Given the description of an element on the screen output the (x, y) to click on. 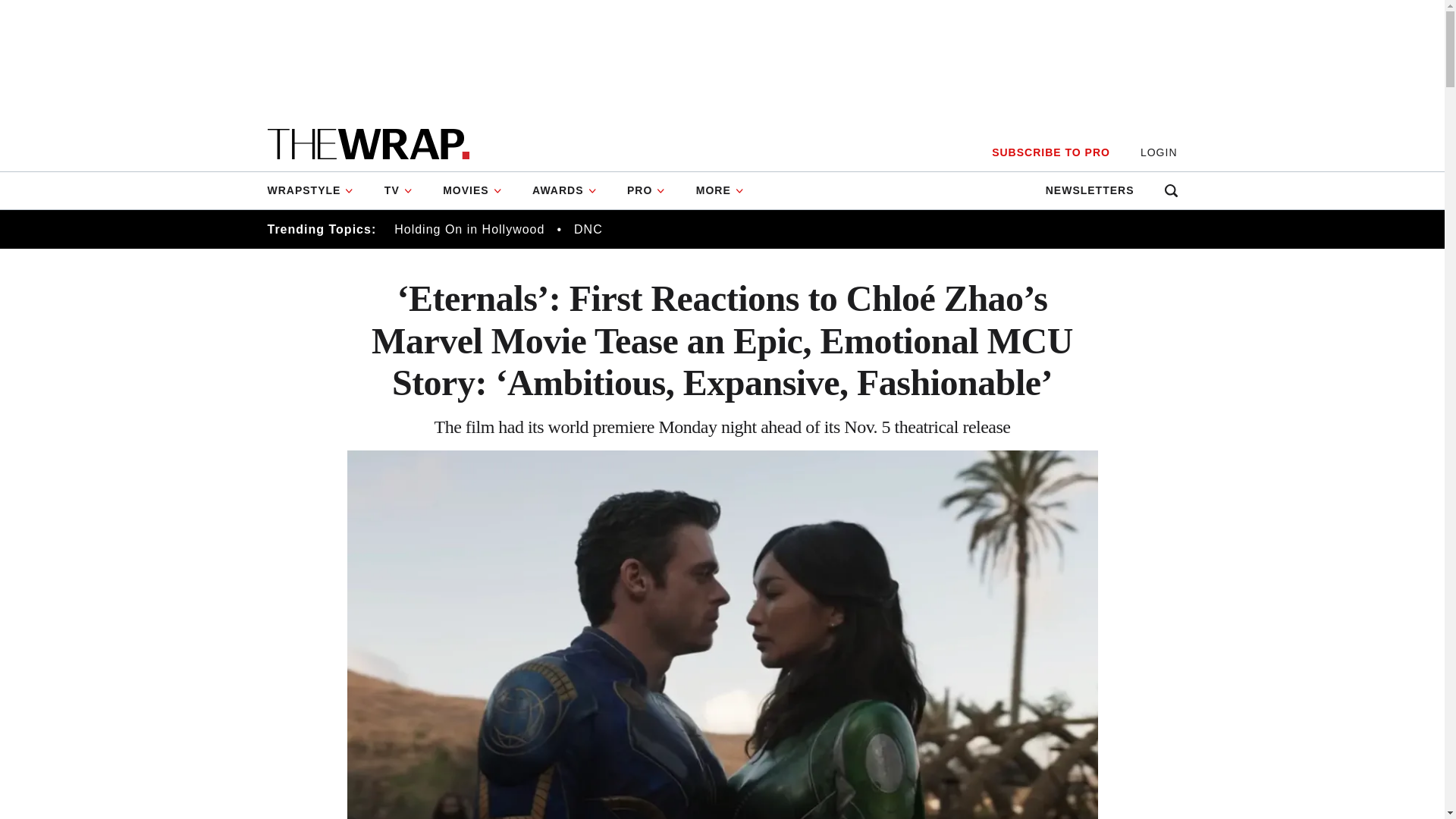
MOVIES (472, 190)
PRO (646, 190)
SUBSCRIBE TO PRO (1050, 152)
MORE (719, 190)
WRAPSTYLE (317, 190)
TV (398, 190)
LOGIN (1158, 152)
AWARDS (563, 190)
